Given the description of an element on the screen output the (x, y) to click on. 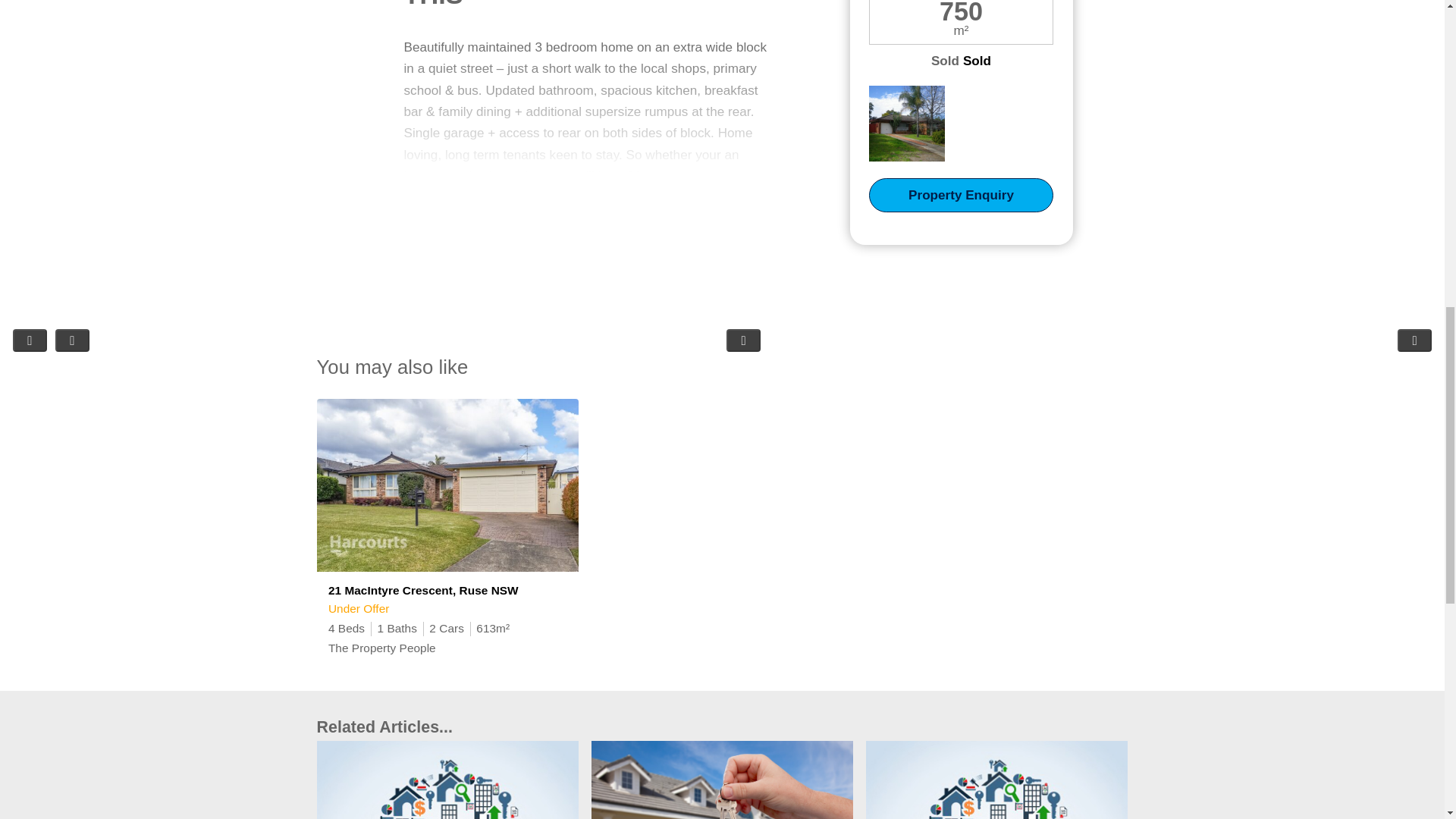
Pricing your home for sale (722, 780)
Pricing your home for sale (447, 780)
Raising the rent (996, 780)
